Given the description of an element on the screen output the (x, y) to click on. 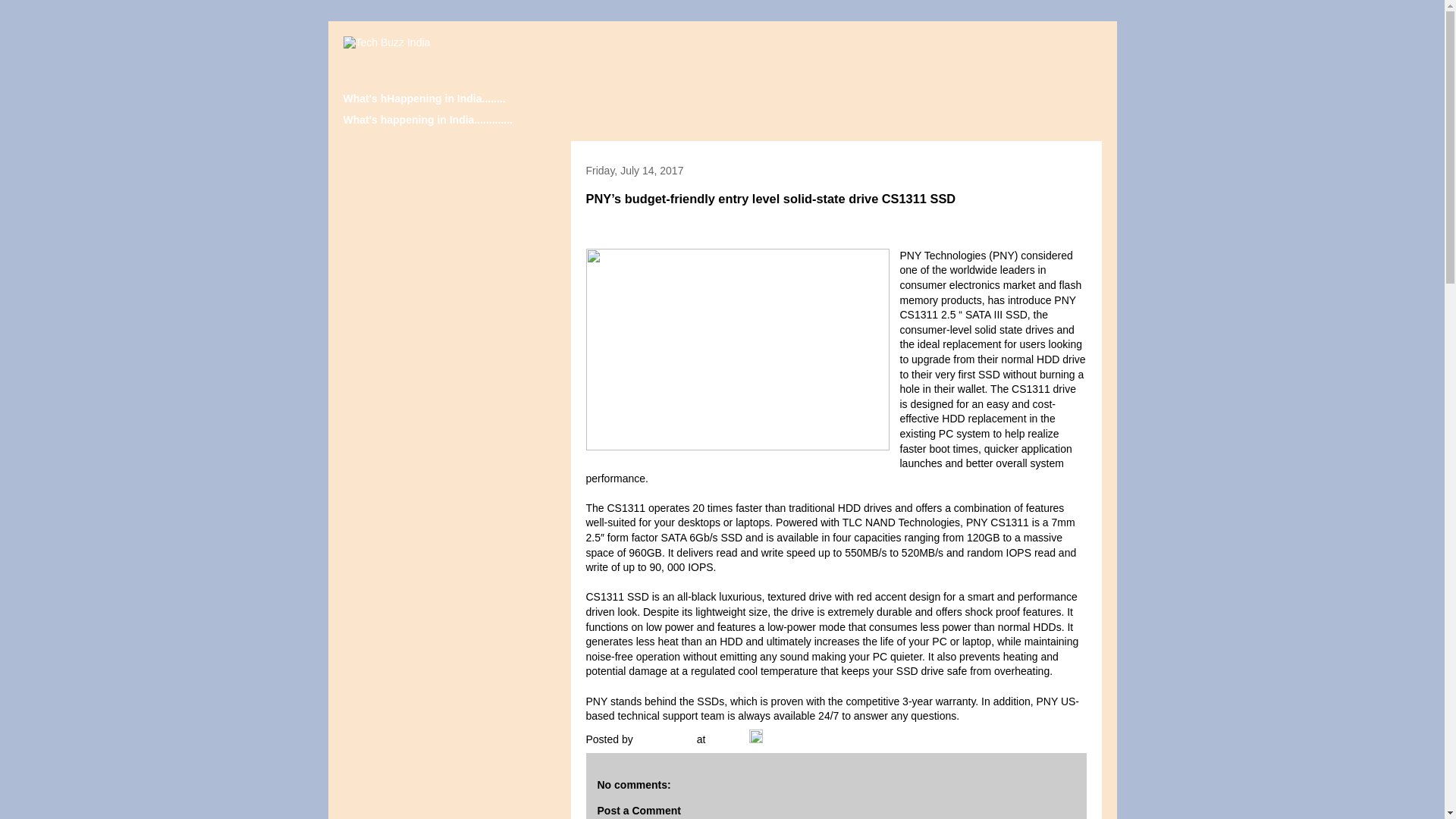
Edit Post (755, 739)
News Room (666, 739)
permanent link (726, 739)
author profile (666, 739)
